Given the description of an element on the screen output the (x, y) to click on. 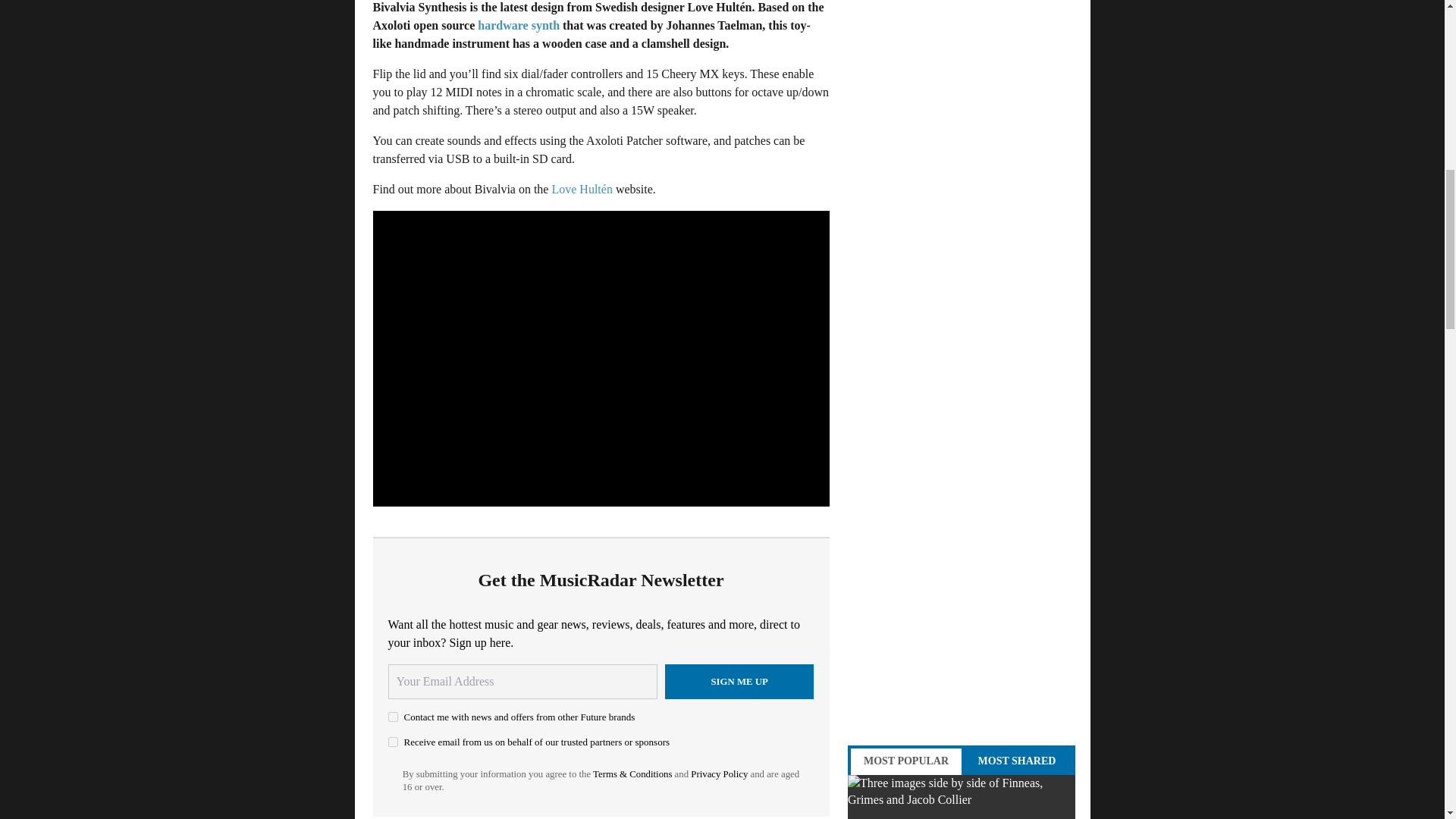
on (392, 741)
Sign me up (739, 681)
Which audio interfaces do the pros use? (961, 796)
on (392, 716)
